Given the description of an element on the screen output the (x, y) to click on. 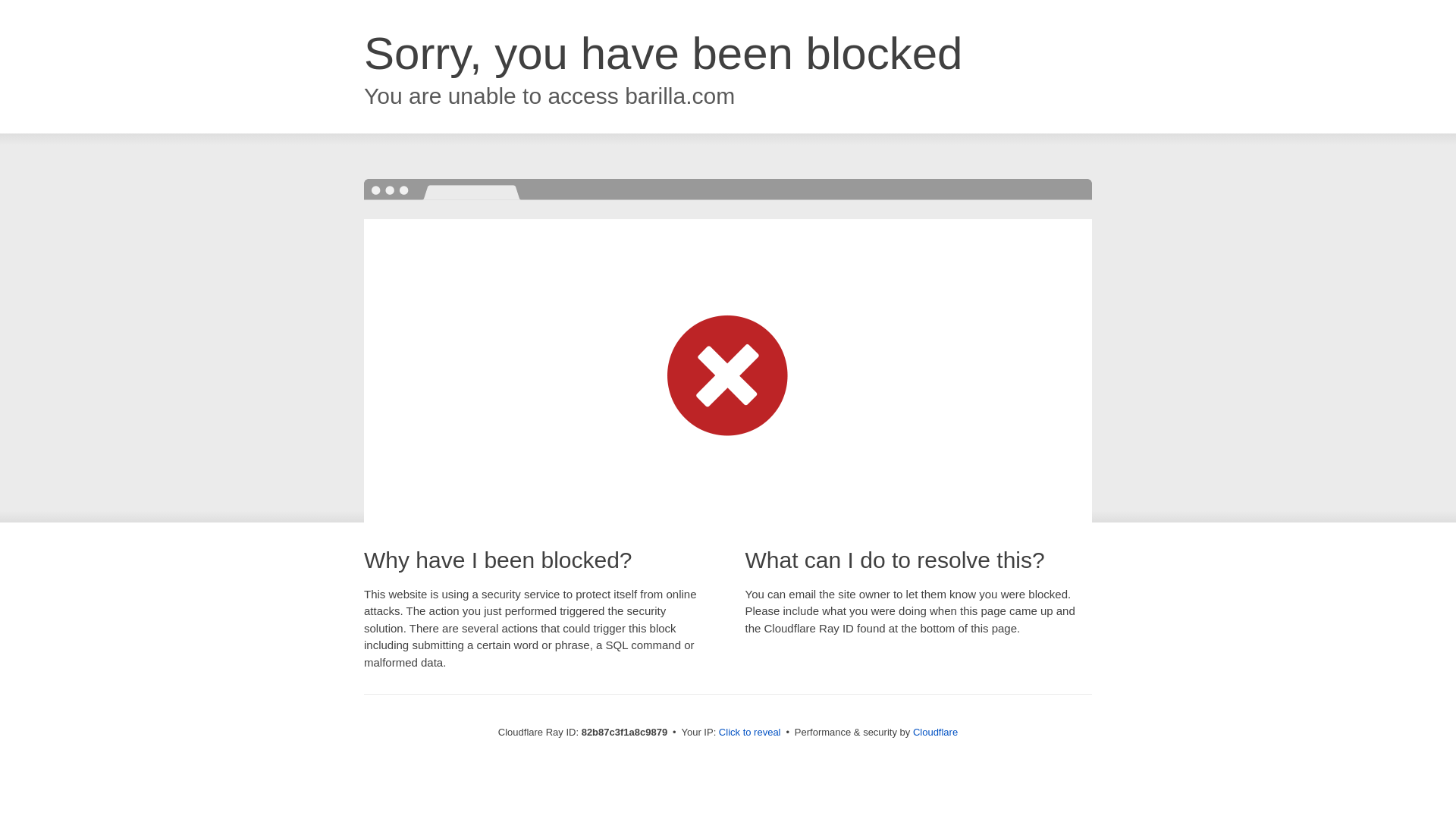
Cloudflare Element type: text (935, 731)
Click to reveal Element type: text (749, 732)
